Given the description of an element on the screen output the (x, y) to click on. 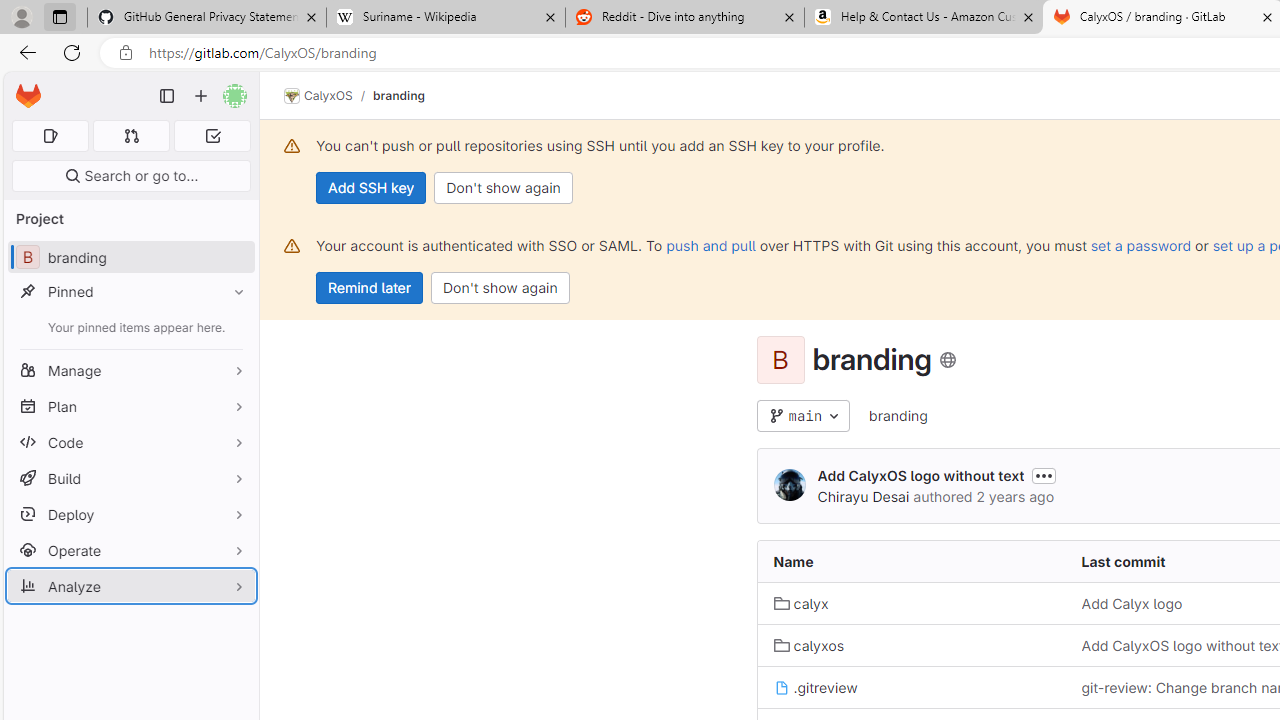
Code (130, 442)
Assigned issues 0 (50, 136)
Primary navigation sidebar (167, 96)
Suriname - Wikipedia (445, 17)
Build (130, 478)
Manage (130, 370)
Build (130, 478)
B branding (130, 257)
Help & Contact Us - Amazon Customer Service (924, 17)
Skip to main content (23, 87)
.gitreview (911, 687)
